Given the description of an element on the screen output the (x, y) to click on. 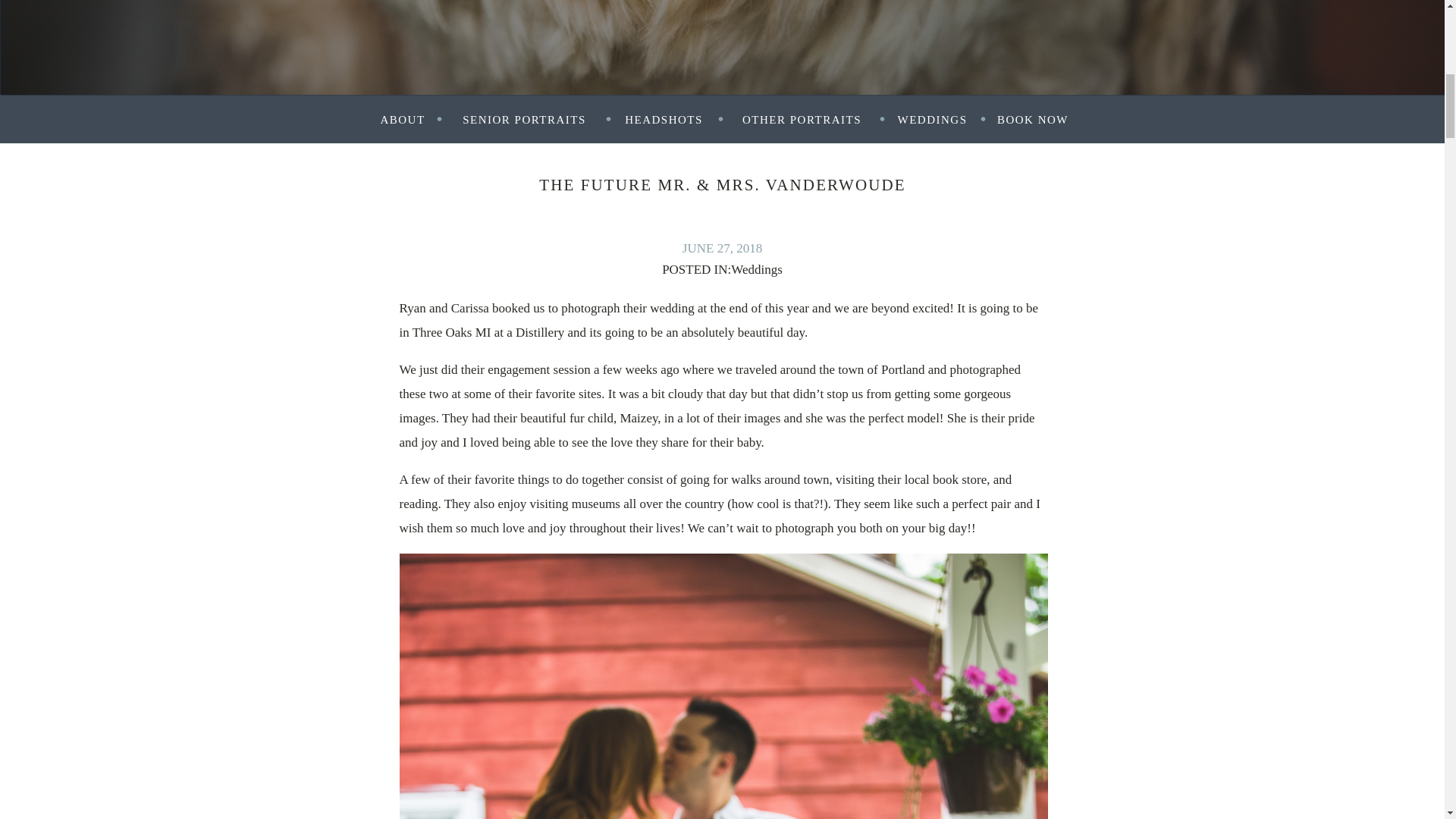
BOOK NOW (1032, 119)
SENIOR PORTRAITS (522, 119)
Weddings (756, 269)
WEDDINGS (932, 119)
OTHER PORTRAITS (801, 119)
HEADSHOTS (663, 119)
ABOUT (402, 119)
